Given the description of an element on the screen output the (x, y) to click on. 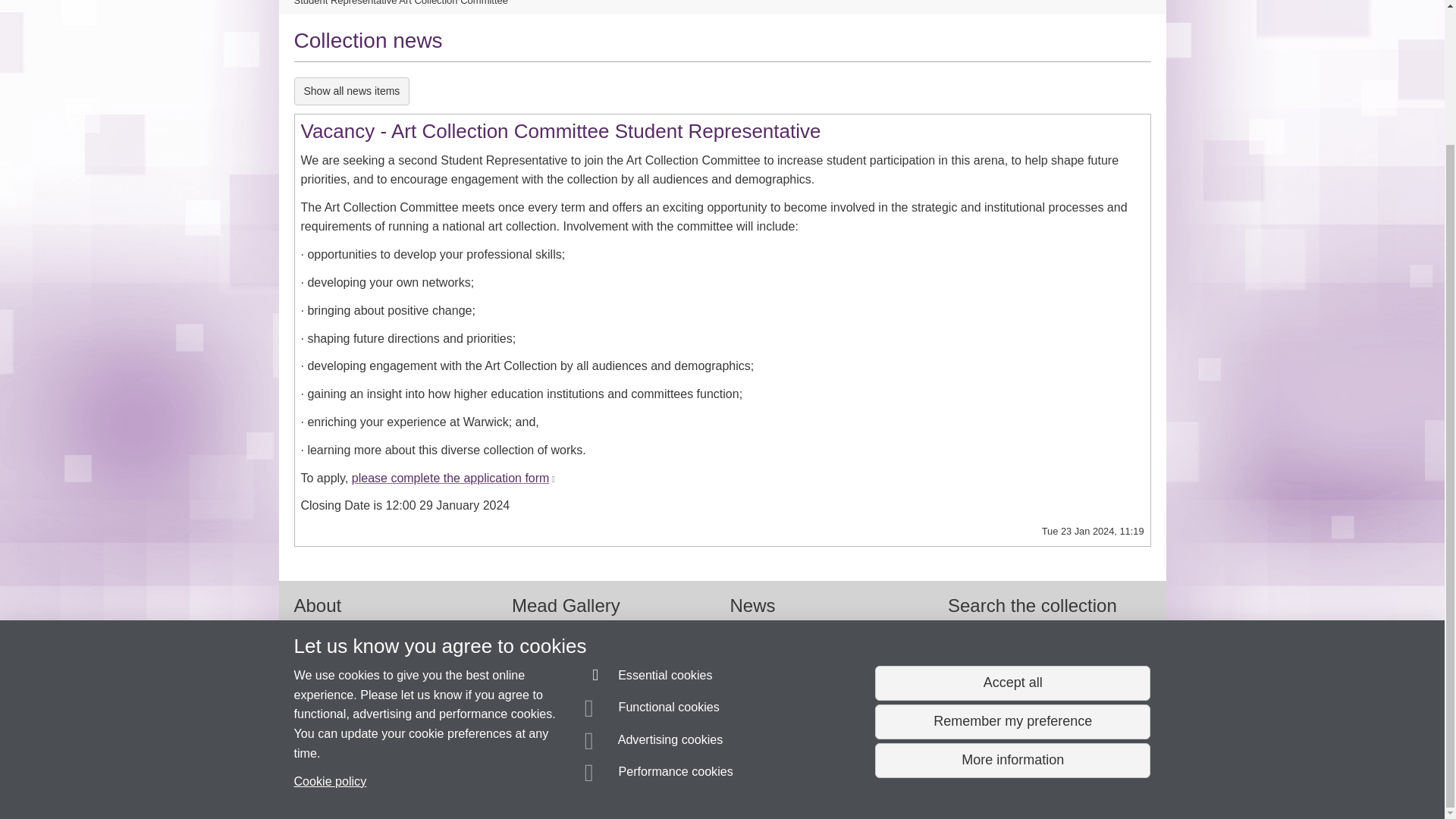
Essential cookies are always on (649, 512)
Terms of use (708, 780)
Send an email to Liz Dooley (373, 751)
More information about SiteBuilder (365, 780)
Accept all functional, advertising and performance cookies (1012, 517)
Link opens in a new window (551, 479)
Privacy notice (673, 780)
Copyright Statement (514, 780)
Information about cookies (467, 780)
